Given the description of an element on the screen output the (x, y) to click on. 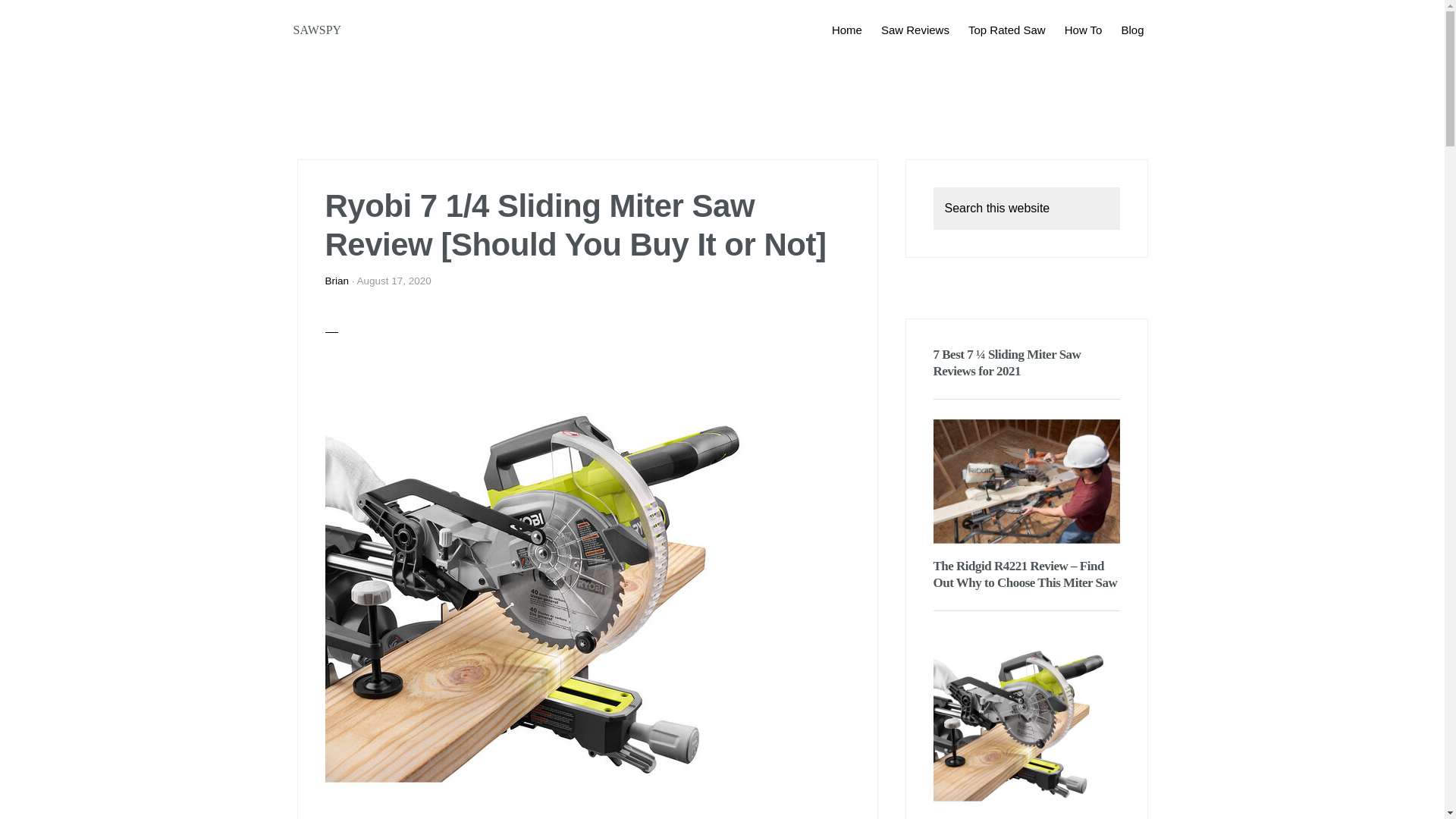
Blog (1132, 29)
PRIVACY POLICY (690, 775)
Top Rated Saw (1006, 29)
How To (1083, 29)
TheBedInsider (695, 748)
SAWSPY (316, 29)
Sawspy (695, 748)
Brian (336, 280)
